Given the description of an element on the screen output the (x, y) to click on. 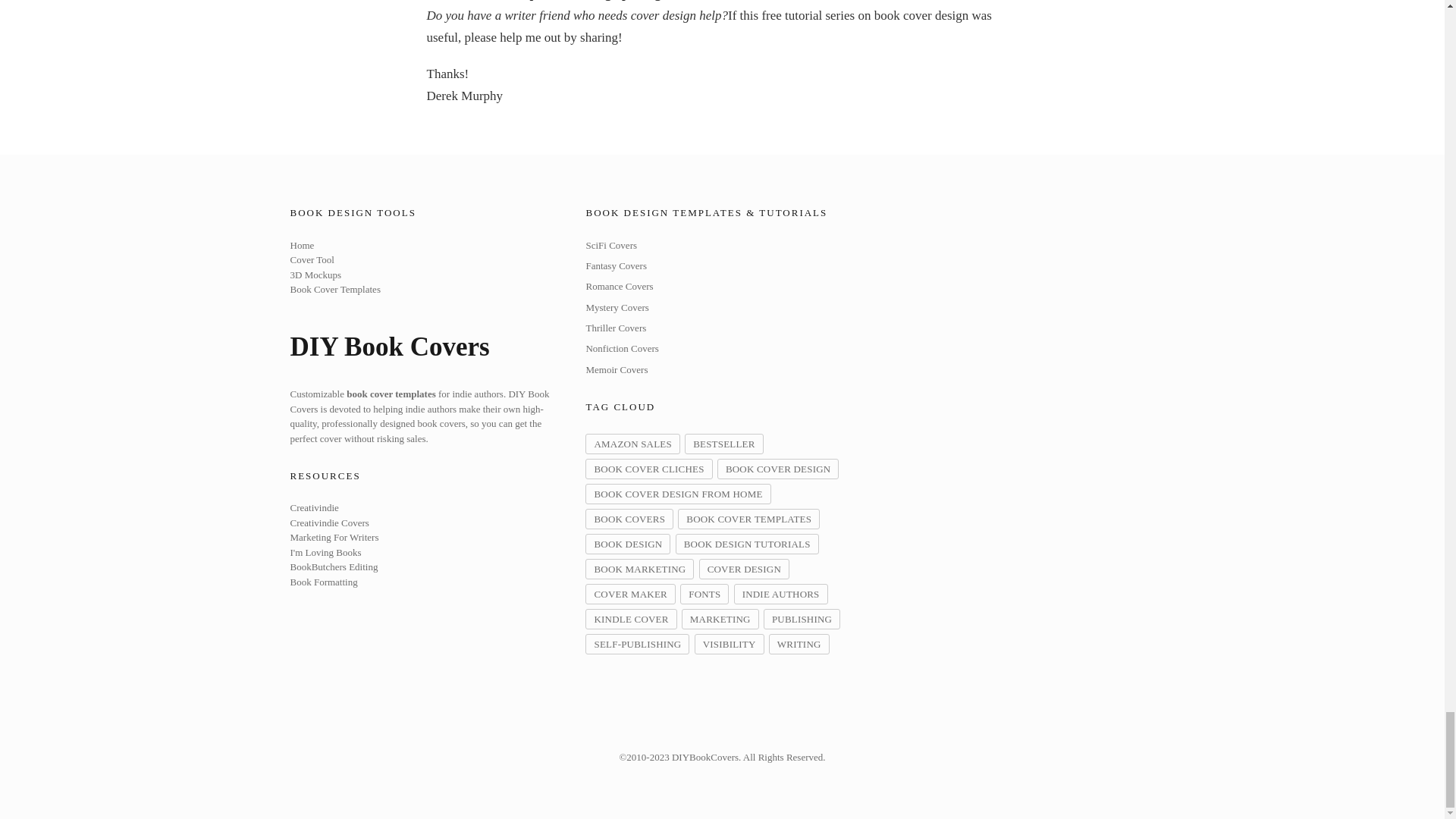
BookButchers Editing (333, 567)
Thriller Covers (615, 327)
Memoir Covers (616, 369)
Creativindie Covers (328, 522)
Romance Covers (618, 285)
3D Mockups (314, 275)
Cover Tool (311, 259)
Home (301, 245)
Creativindie (313, 508)
Fantasy Covers (615, 265)
